Given the description of an element on the screen output the (x, y) to click on. 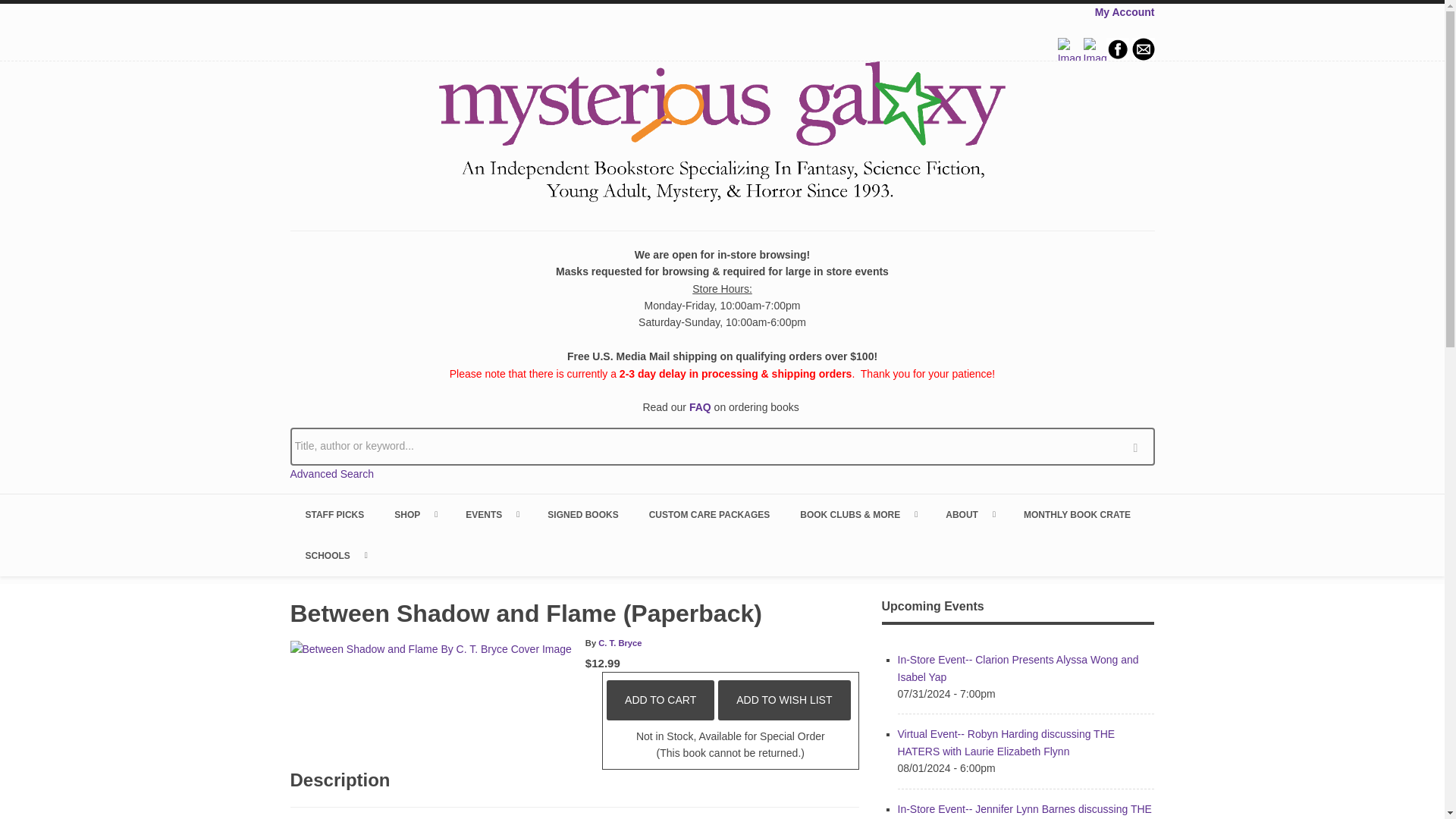
SHOP (413, 514)
Home (722, 134)
FAQ (699, 407)
Add to Wish List (783, 699)
My Account (1124, 11)
Advanced Search (331, 473)
STAFF PICKS (333, 514)
EVENTS (490, 514)
Add to Cart (660, 699)
Title, author or keyword... (721, 446)
